Given the description of an element on the screen output the (x, y) to click on. 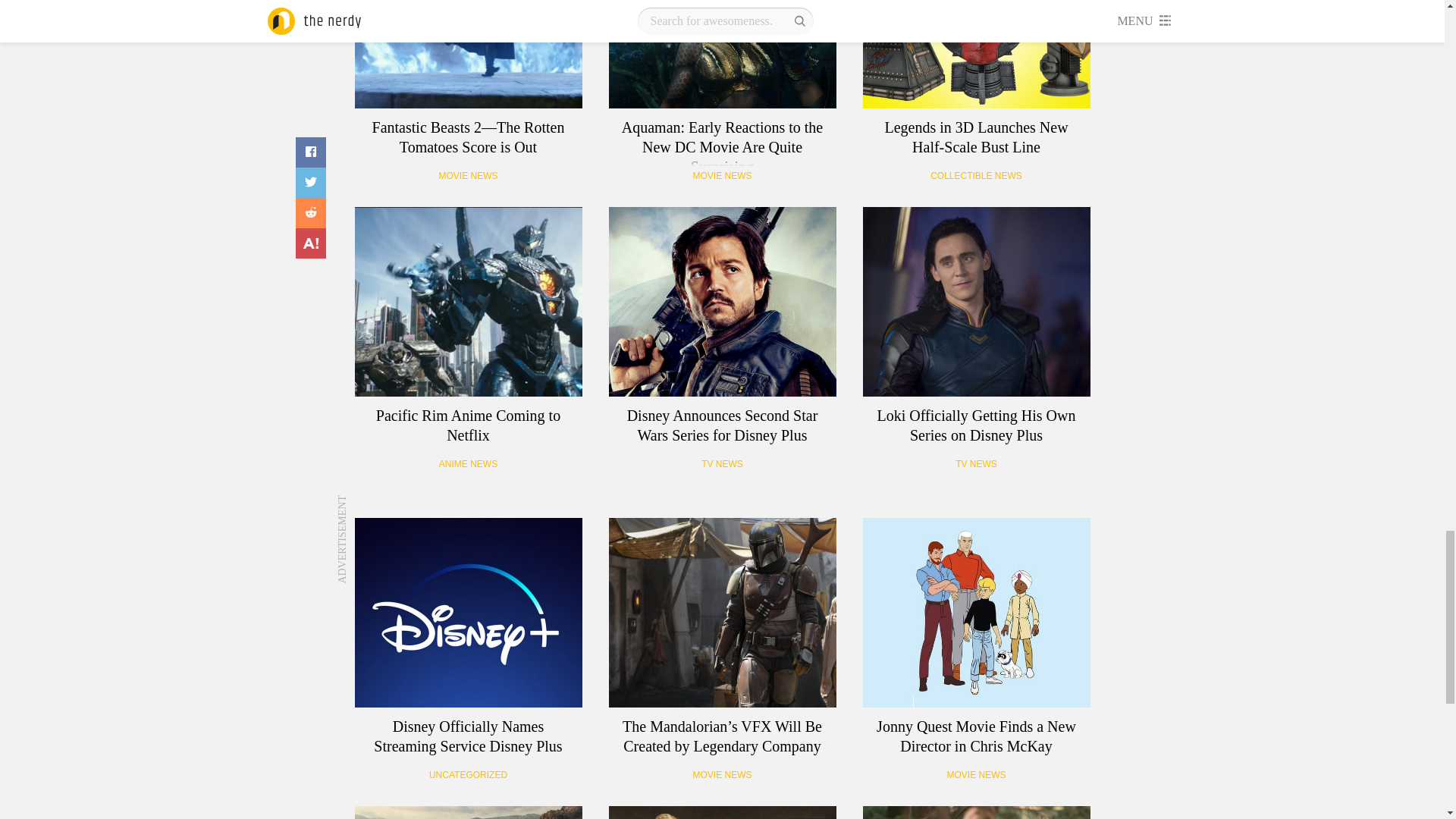
Pacific Rim Anime Coming to Netflix (468, 301)
Legends in 3D Launches New Half-Scale Bust Line (976, 54)
